Given the description of an element on the screen output the (x, y) to click on. 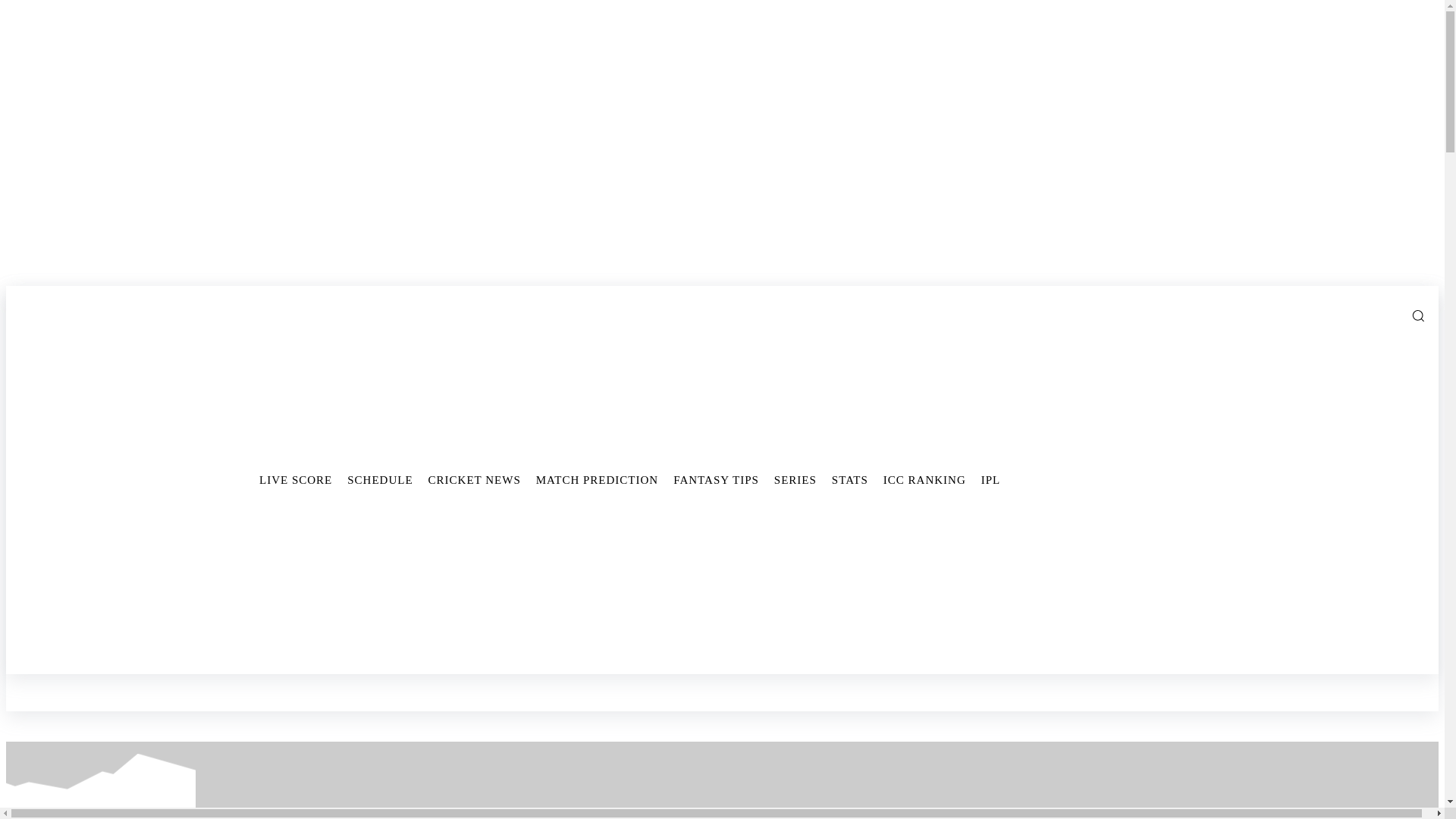
SERIES (795, 479)
ICC RANKING (925, 479)
SCHEDULE (379, 479)
MATCH PREDICTION (596, 479)
FANTASY TIPS (716, 479)
CRICKET NEWS (474, 479)
STATS (850, 479)
LIVE SCORE (295, 479)
